Given the description of an element on the screen output the (x, y) to click on. 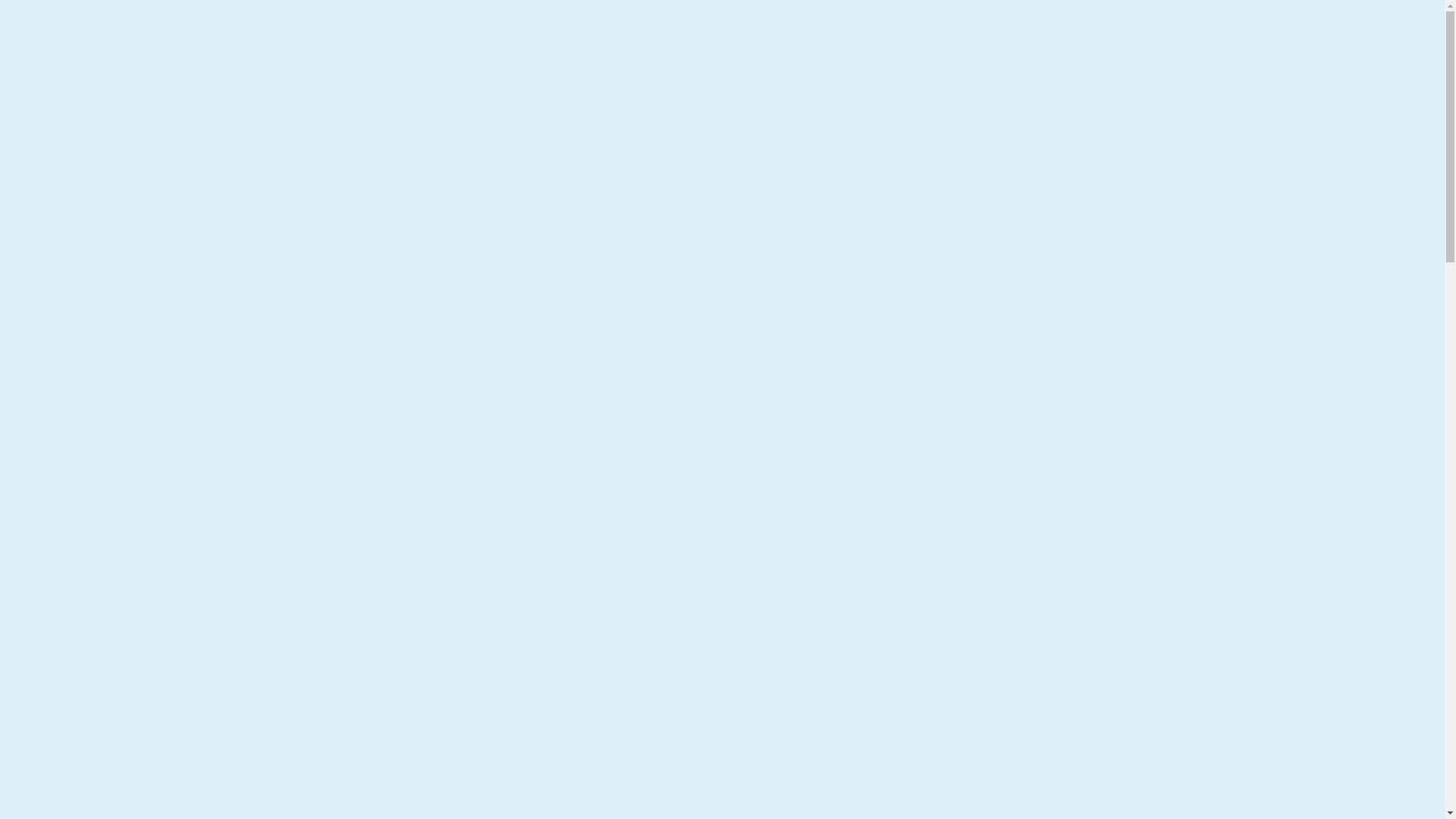
PODCAST Element type: text (1313, 120)
BLOG Element type: text (1419, 120)
LET'S SLEEP STARTER Element type: text (1150, 104)
DOWNLOAD YOUR FREE EARLY MORNING WAKING GUIDE HERE Element type: text (722, 43)
WORK WITH ME Element type: text (1385, 87)
1:1 SUPPORT Element type: text (1265, 104)
ABOUT Element type: text (1372, 120)
Let's work together! Element type: text (62, 243)
PREVIOUS CLIENTS Element type: text (1374, 104)
GUIDES Element type: text (1148, 120)
BOOK A CALL WITH JAZZ Element type: text (89, 137)
TESTIMONIALS Element type: text (1227, 120)
